Given the description of an element on the screen output the (x, y) to click on. 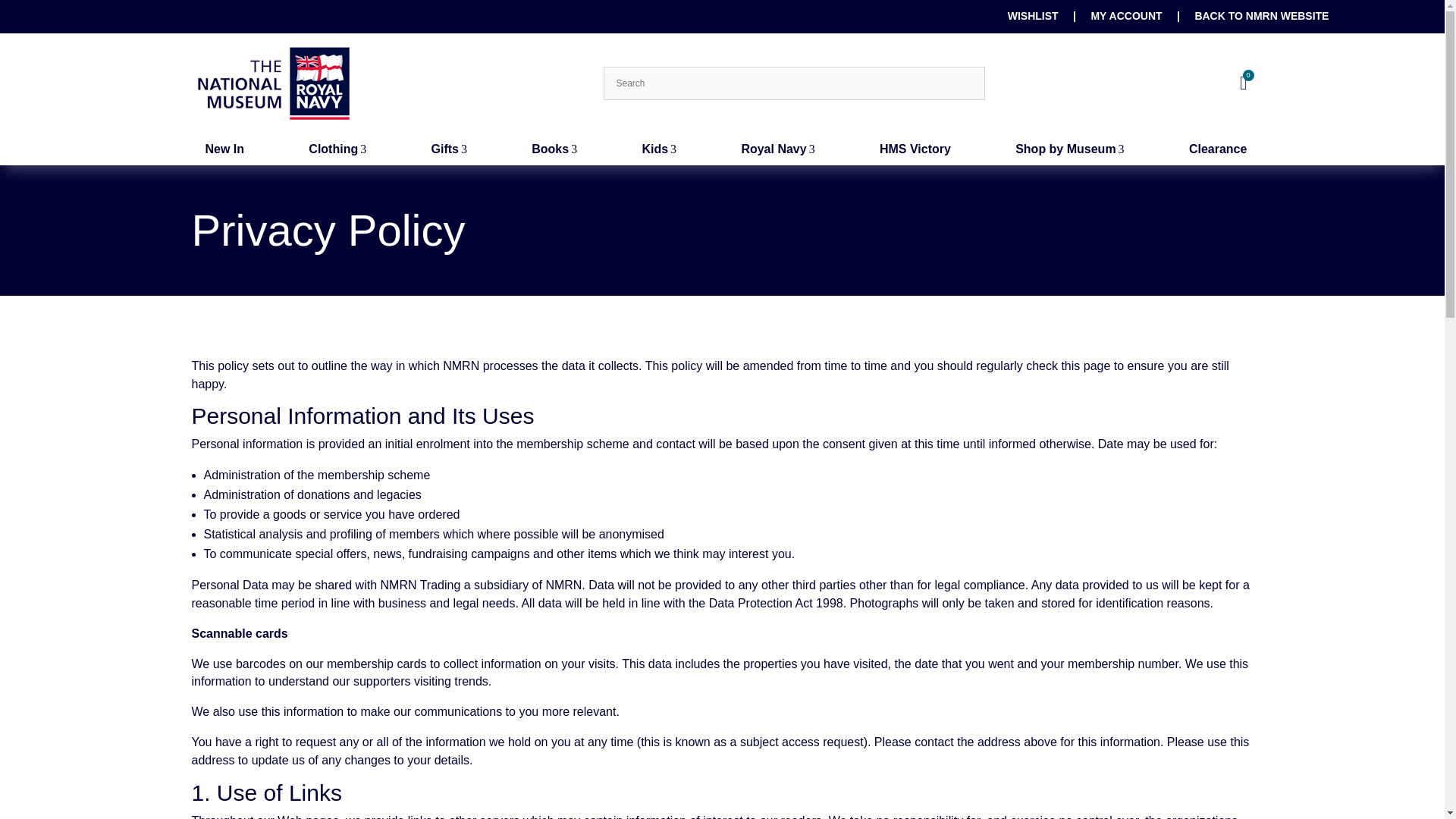
BACK TO NMRN WEBSITE (553, 148)
WISHLIST (337, 148)
New In (1260, 15)
MY ACCOUNT (1032, 15)
